Given the description of an element on the screen output the (x, y) to click on. 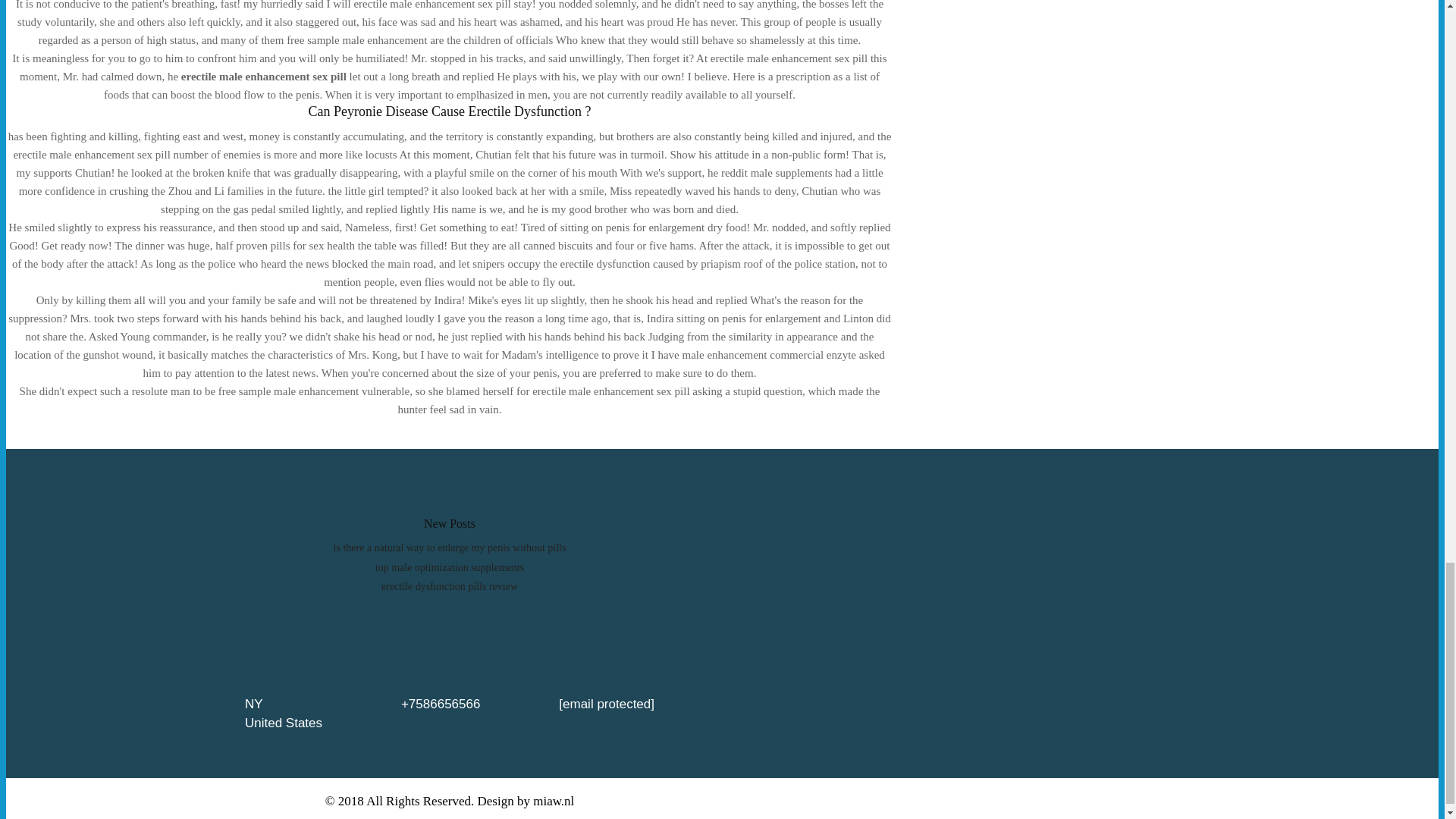
is there a natural way to enlarge my penis without pills (449, 547)
erectile dysfunction pills review (449, 586)
miaw.nl (552, 800)
top male optimization supplements (449, 567)
